Given the description of an element on the screen output the (x, y) to click on. 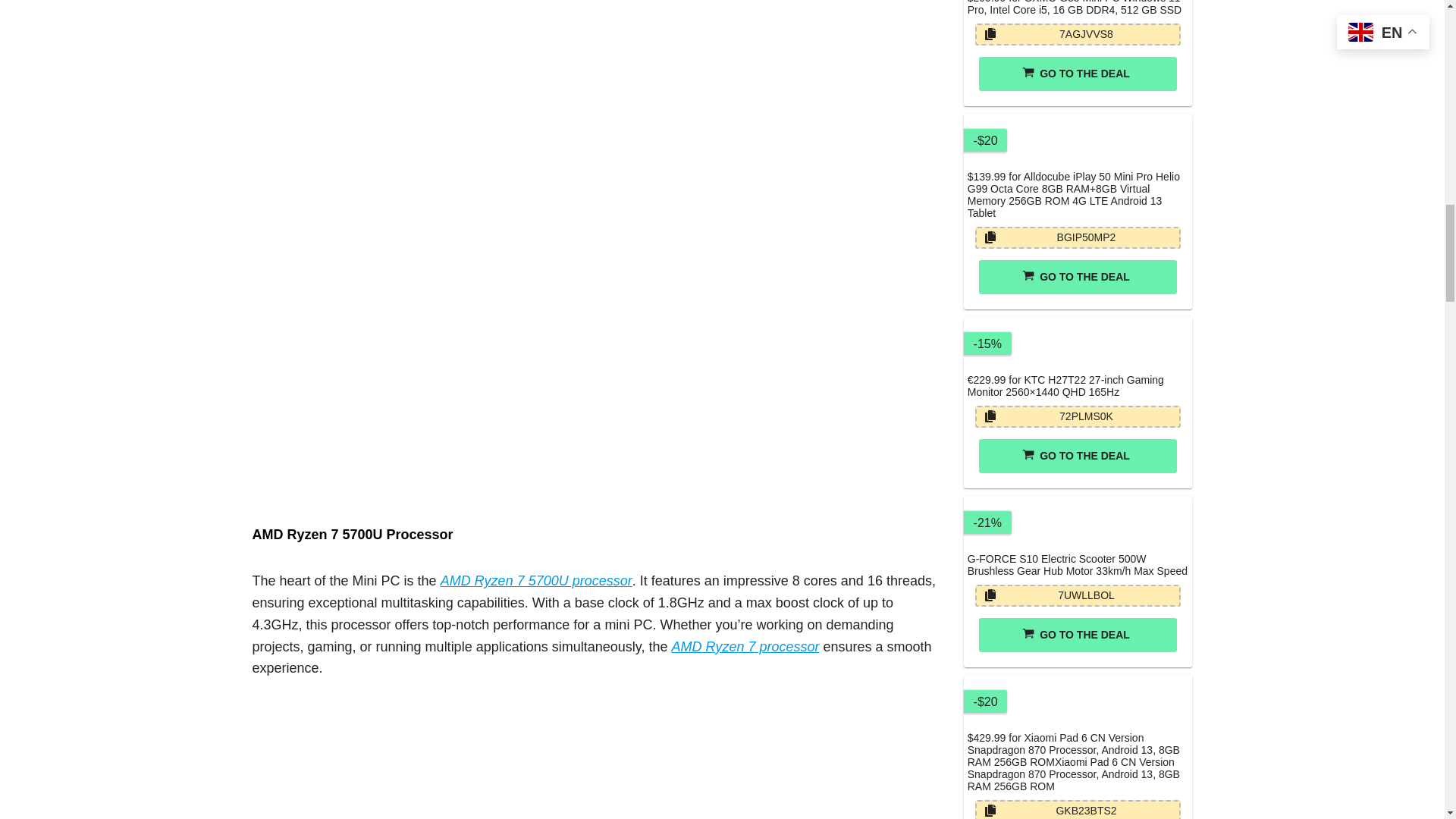
AMD Ryzen 7 5700U processor (536, 580)
AMD Ryzen 7 processor (744, 646)
